Given the description of an element on the screen output the (x, y) to click on. 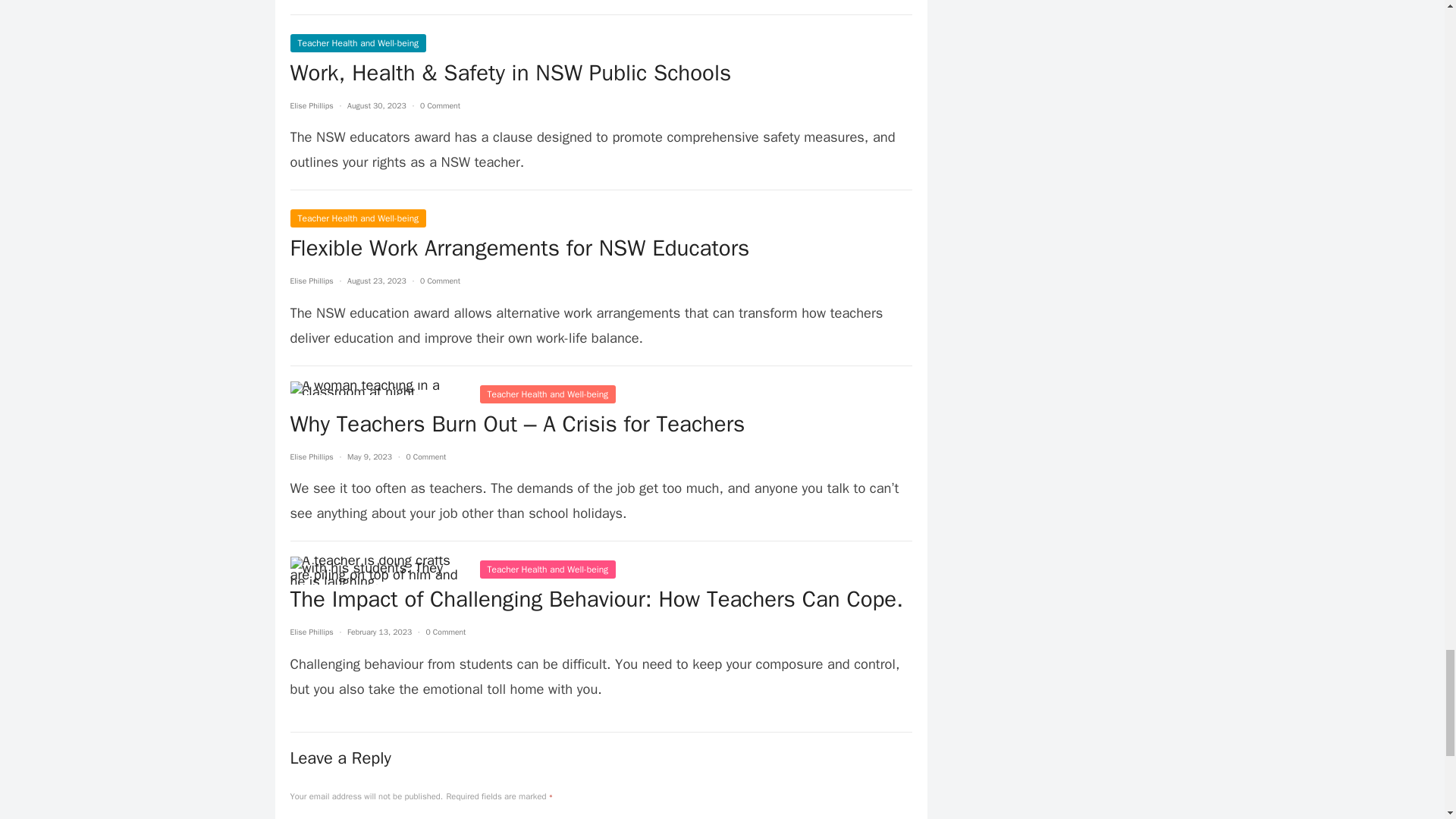
Posts by Elise Phillips (311, 280)
Posts by Elise Phillips (311, 105)
Posts by Elise Phillips (311, 456)
Posts by Elise Phillips (311, 632)
